Given the description of an element on the screen output the (x, y) to click on. 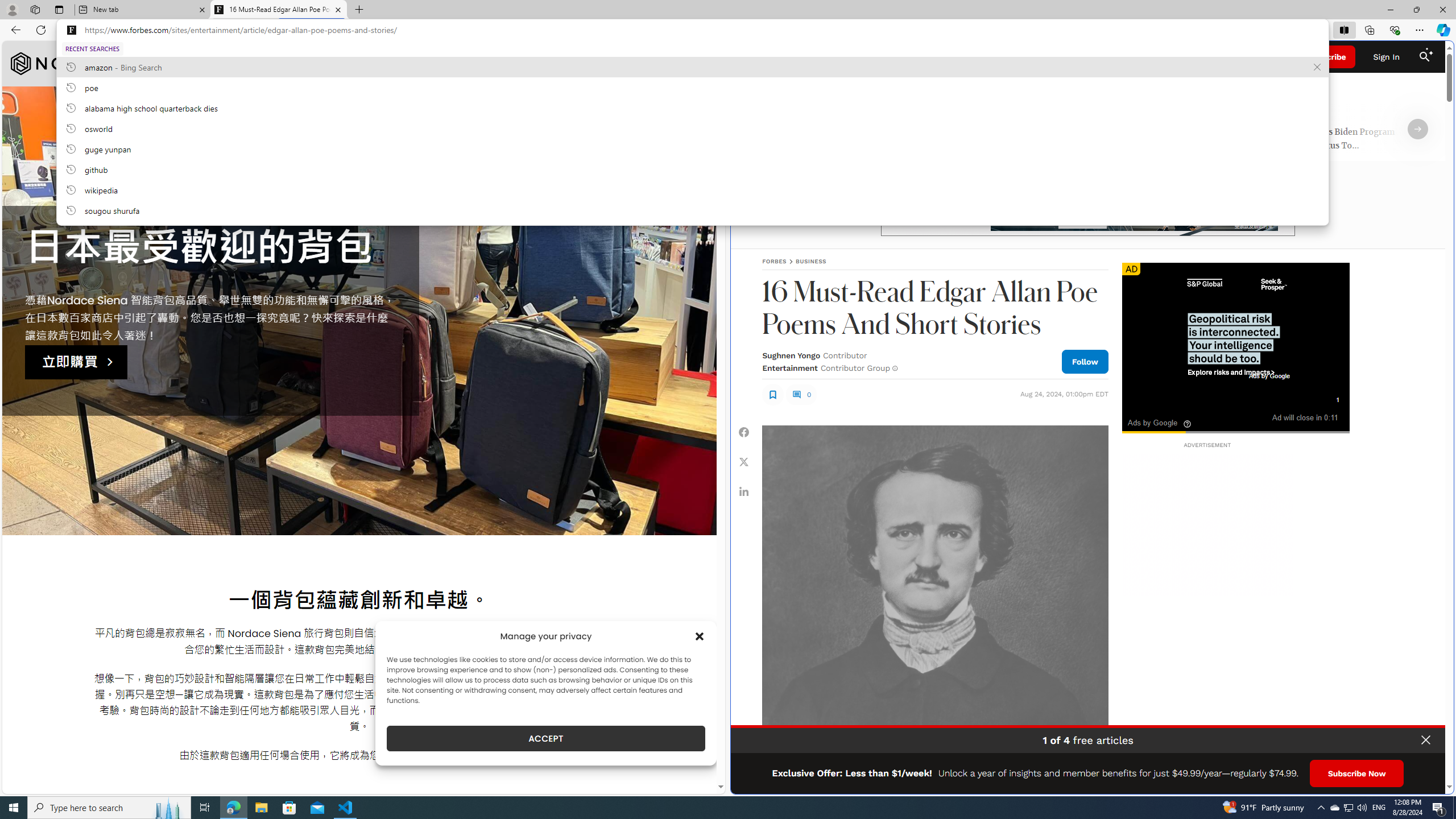
0 (801, 394)
Terms (1434, 781)
Class: fs-icon fs-icon--linkedin (743, 490)
Portrait of Edgar Allan Poe. (934, 598)
Class: cnx-color-icon (1160, 416)
